Given the description of an element on the screen output the (x, y) to click on. 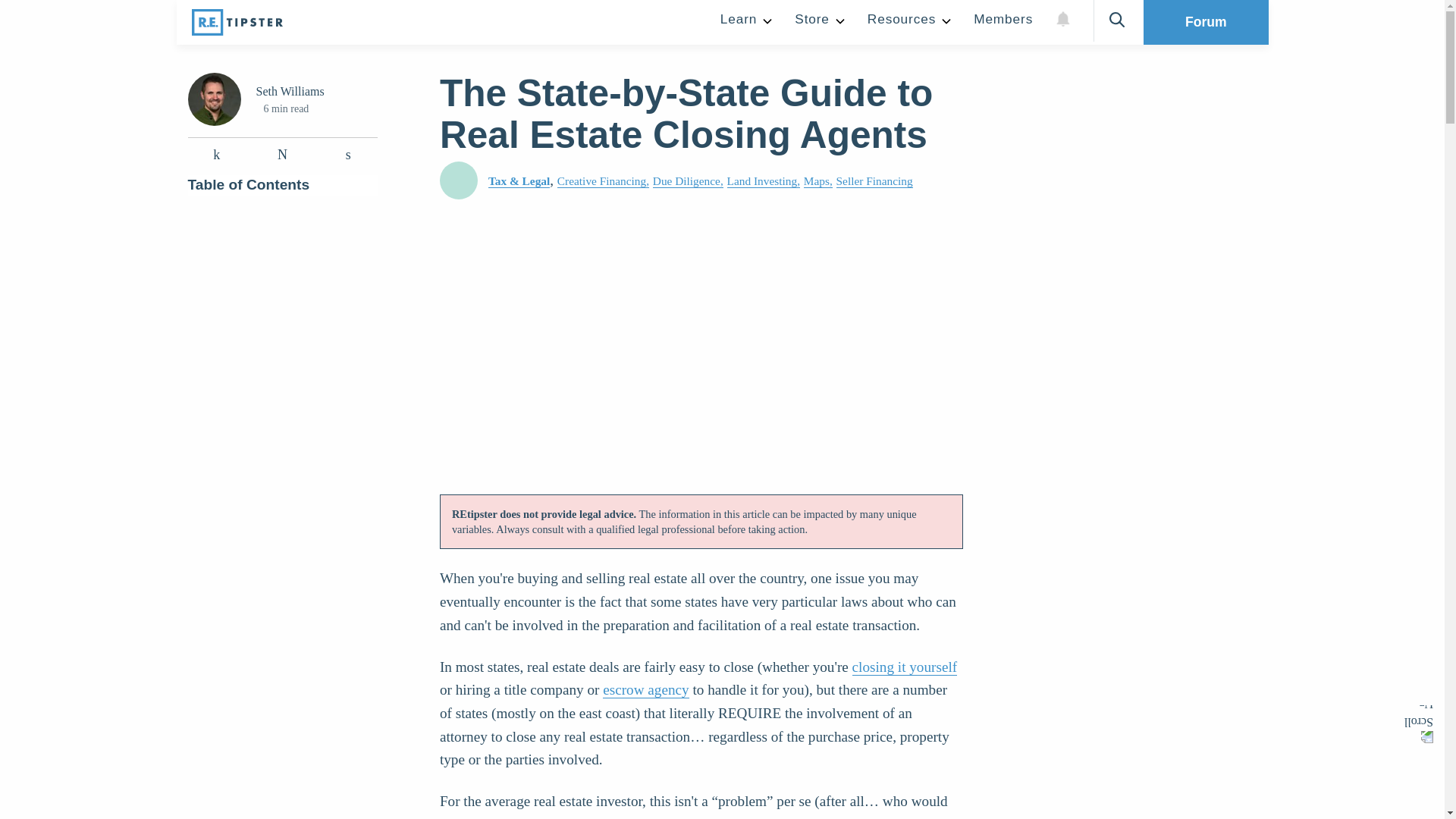
Store (819, 22)
Learn (745, 22)
Posts by Seth Williams (290, 91)
Resources (908, 22)
Members (1003, 22)
